Given the description of an element on the screen output the (x, y) to click on. 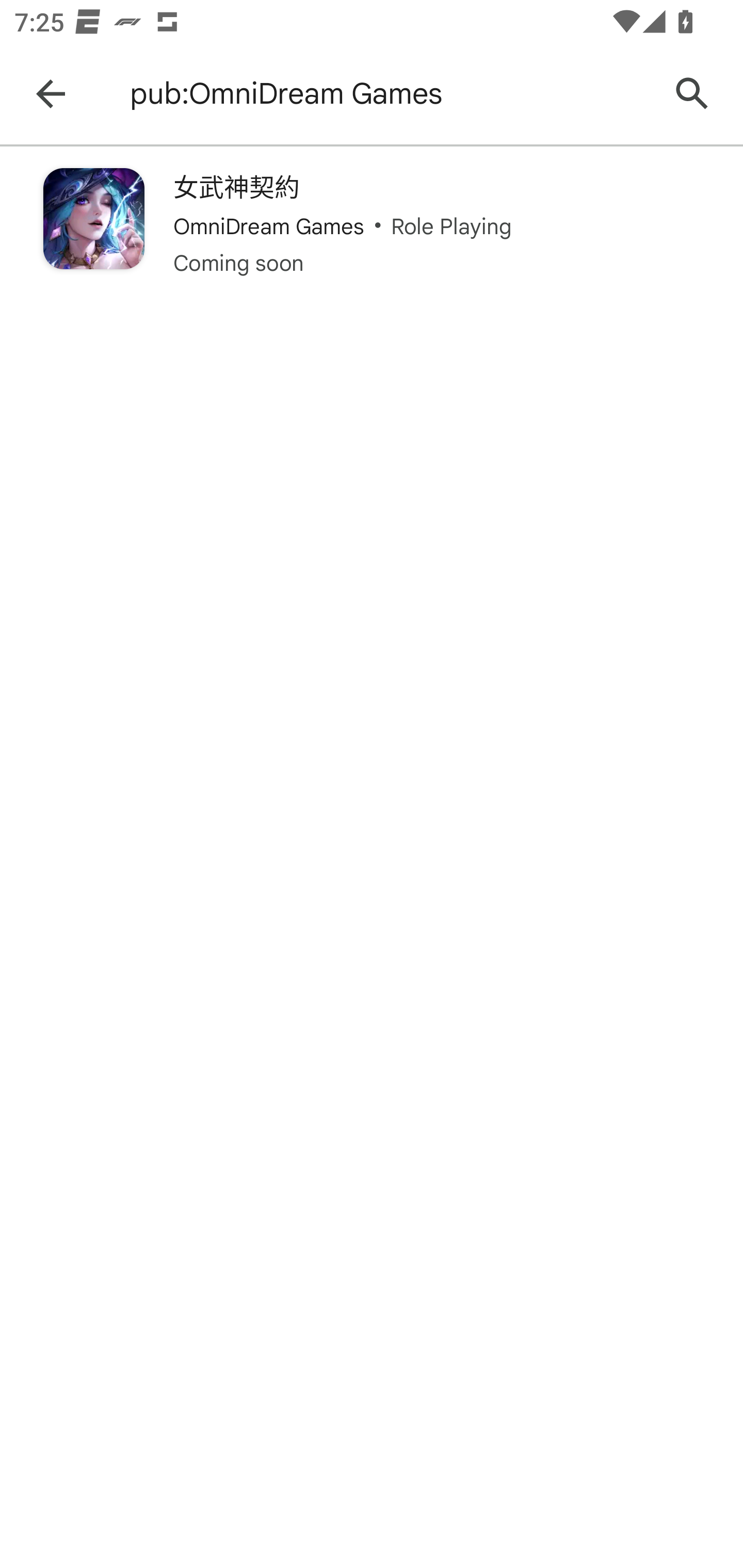
pub:OmniDream Games (389, 93)
Navigate up (50, 93)
Search Google Play (692, 93)
女武神契約
OmniDream Games
Role Playing
Coming soon
 (371, 223)
